Given the description of an element on the screen output the (x, y) to click on. 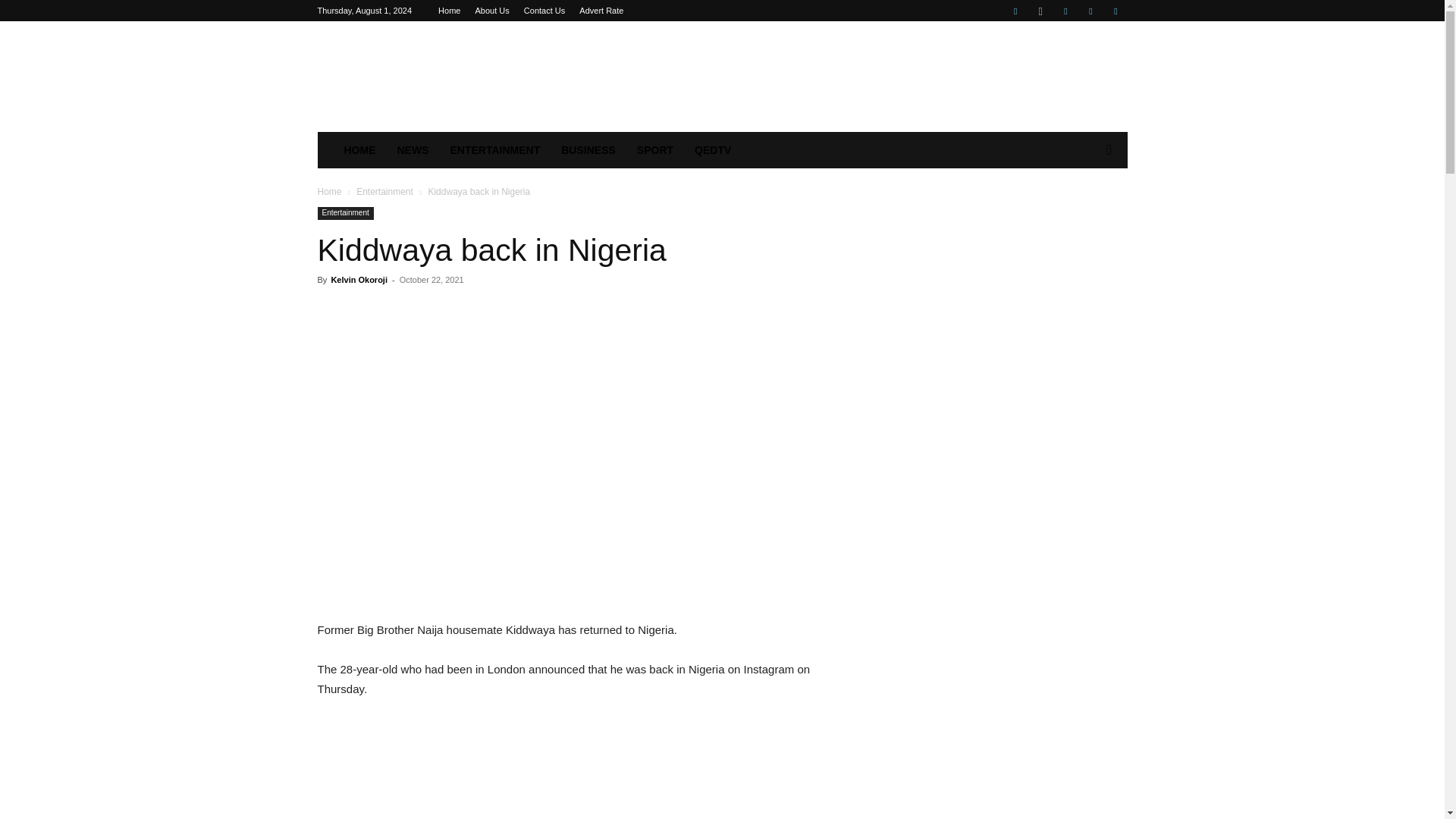
Home (328, 191)
Youtube (1114, 10)
HOME (360, 149)
Kelvin Okoroji (358, 279)
Home (449, 10)
Advert Rate (601, 10)
Twitter (1090, 10)
View all posts in Entertainment (384, 191)
ENTERTAINMENT (495, 149)
Linkedin (1065, 10)
Facebook (1015, 10)
Instagram (1040, 10)
BUSINESS (588, 149)
Entertainment (384, 191)
QEDTV (712, 149)
